Given the description of an element on the screen output the (x, y) to click on. 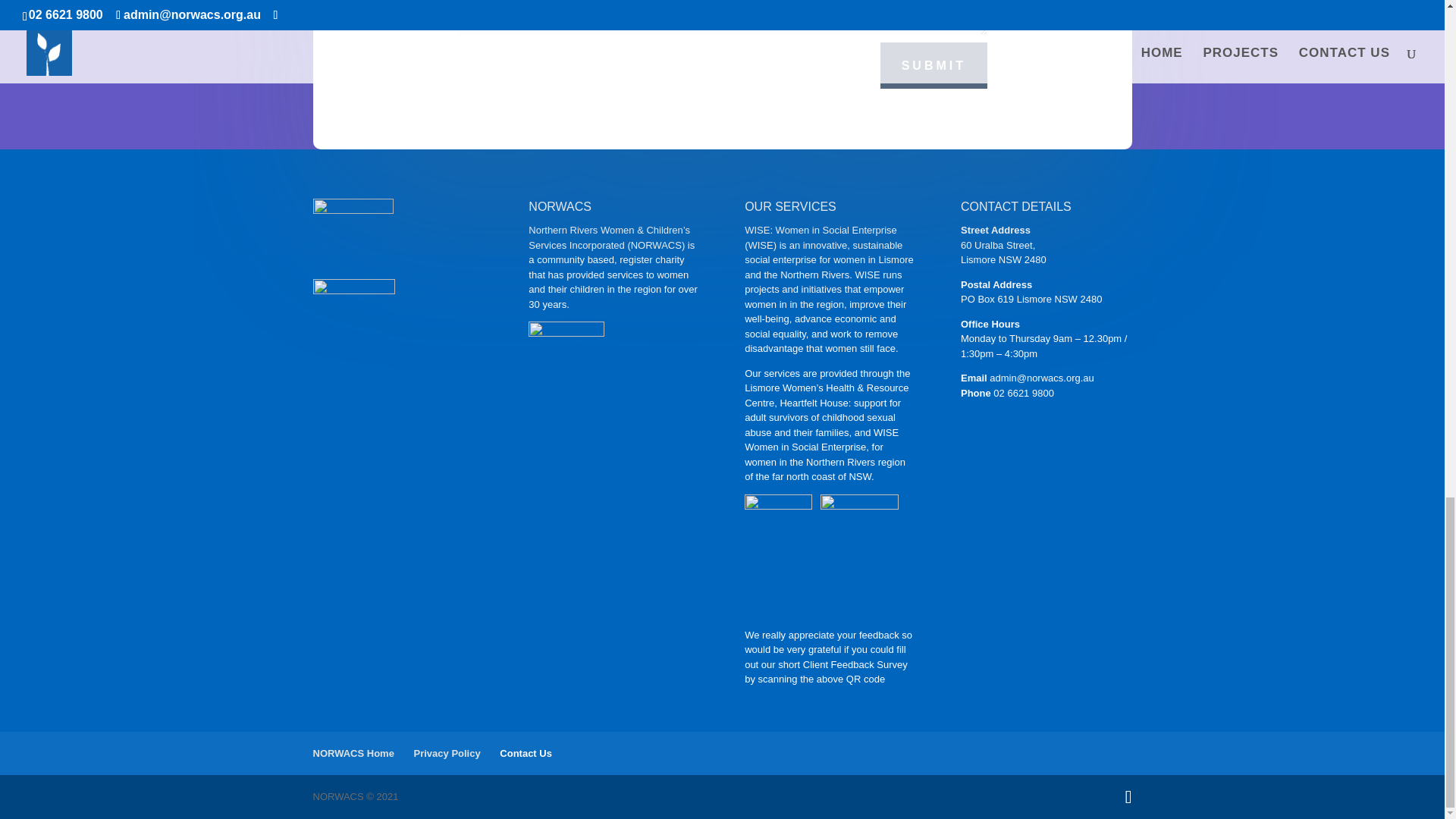
SUBMIT (933, 65)
02 6621 9800 (1023, 392)
Privacy Policy (446, 753)
Contact Us (525, 753)
NORWACS Home (353, 753)
